Given the description of an element on the screen output the (x, y) to click on. 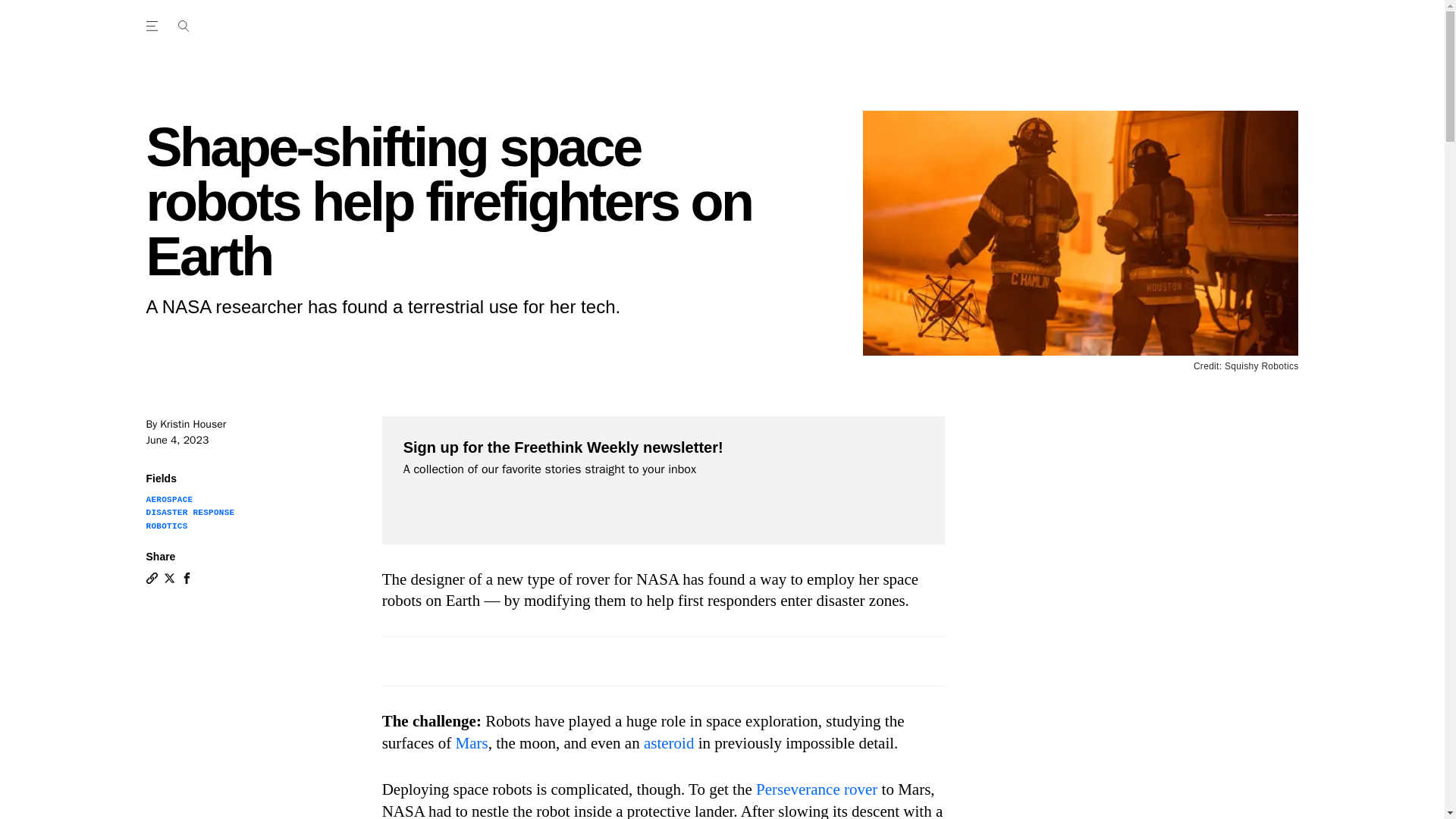
ROBOTICS (166, 525)
Kristin Houser (192, 423)
Open the Main Navigation Menu (182, 26)
DISASTER RESPONSE (189, 511)
AEROSPACE (168, 499)
Open the Main Navigation Menu (153, 26)
